Given the description of an element on the screen output the (x, y) to click on. 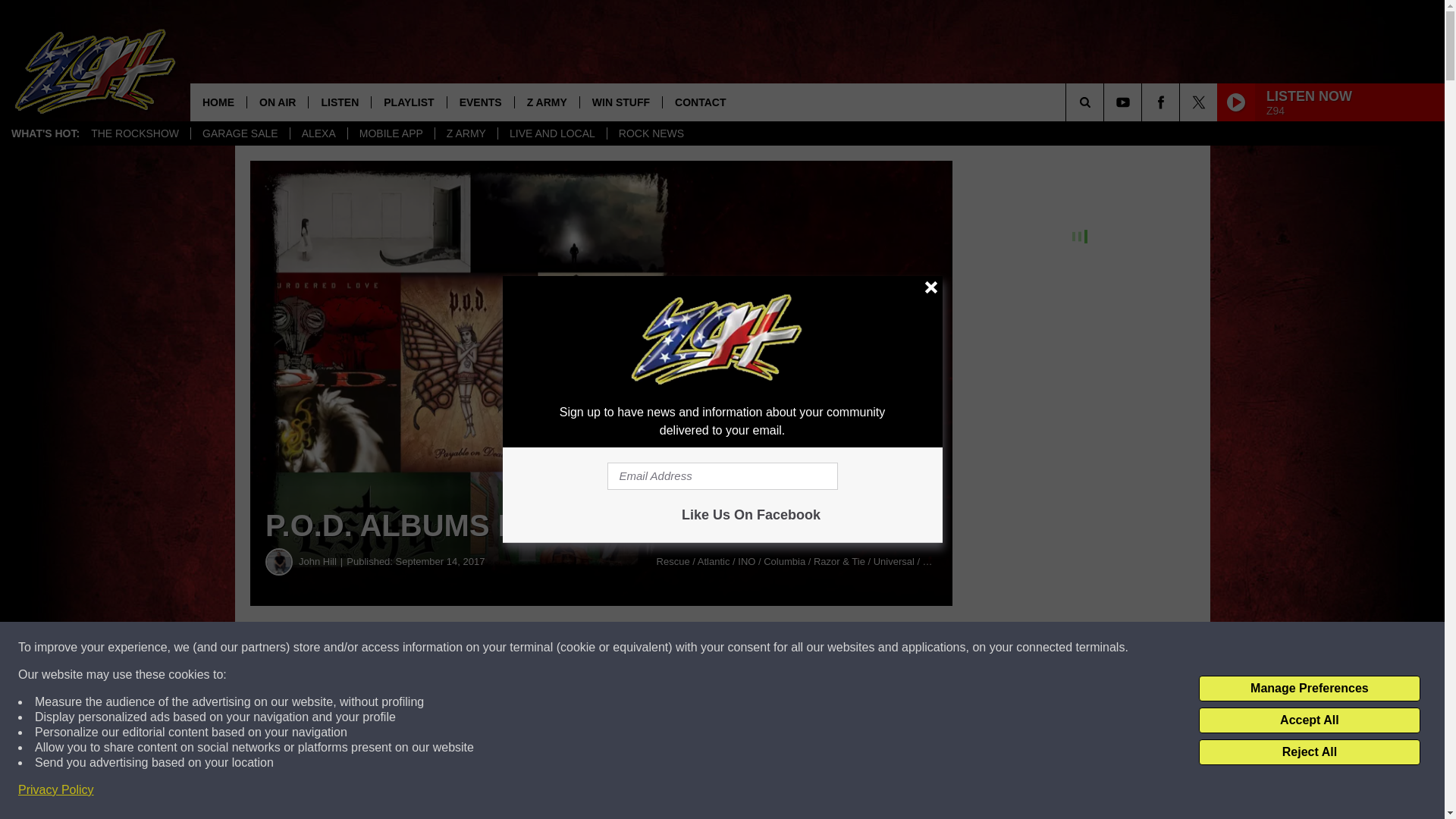
SEARCH (1106, 102)
ON AIR (276, 102)
Reject All (1309, 751)
Accept All (1309, 720)
SEARCH (1106, 102)
Z ARMY (546, 102)
Privacy Policy (55, 789)
CONTACT (700, 102)
GARAGE SALE (239, 133)
Email Address (722, 475)
ALEXA (318, 133)
Share on Twitter (741, 647)
LISTEN (339, 102)
Manage Preferences (1309, 688)
EVENTS (479, 102)
